Given the description of an element on the screen output the (x, y) to click on. 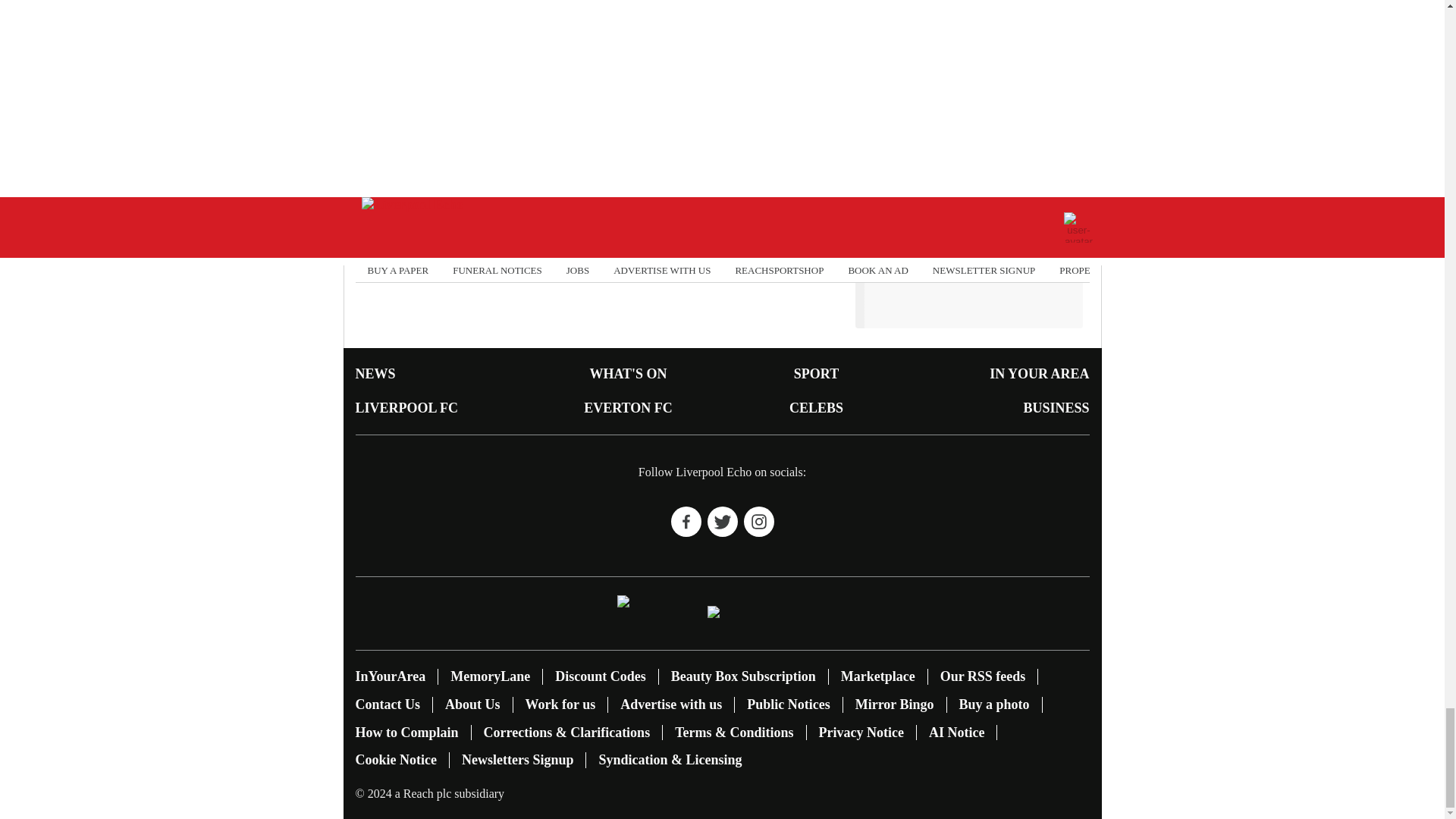
EVERTON FC (627, 407)
IN YOUR AREA (1039, 373)
NEWS (374, 373)
CELEBS (816, 407)
InYourArea (390, 676)
SPORT (815, 373)
BUSINESS (1056, 407)
WHAT'S ON (627, 373)
LIVERPOOL FC (406, 407)
